Given the description of an element on the screen output the (x, y) to click on. 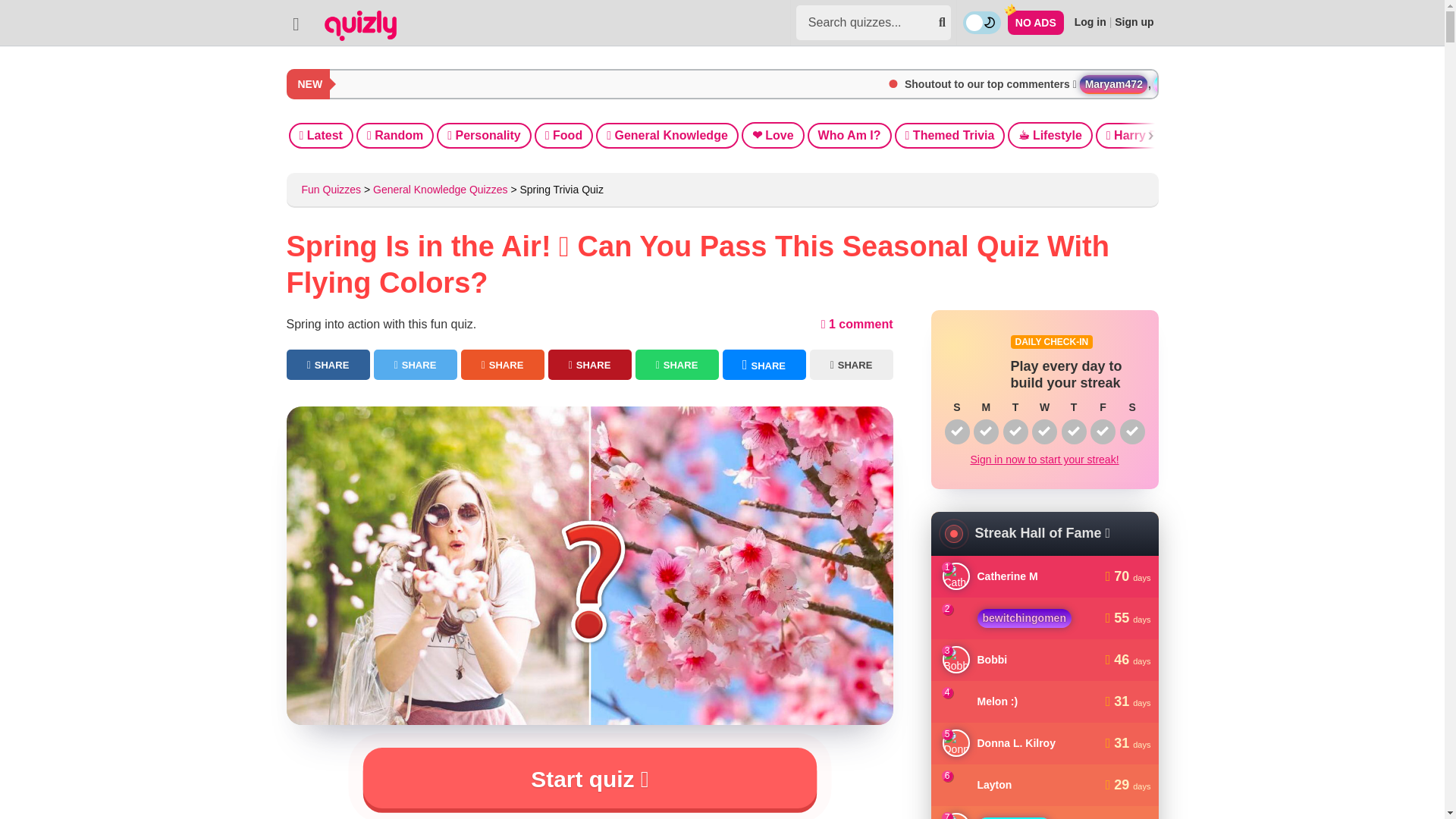
Share this quiz on Facebook (327, 364)
Share this quiz on Reddit (502, 364)
Sign up (1134, 21)
Menu (295, 23)
Share this quiz on Twitter (414, 364)
Share this quiz on WhatsApp (676, 364)
Log in (1090, 21)
Email this quiz to a friend (851, 364)
Share this quiz on Pinterest (588, 364)
NO ADS (1035, 22)
